Given the description of an element on the screen output the (x, y) to click on. 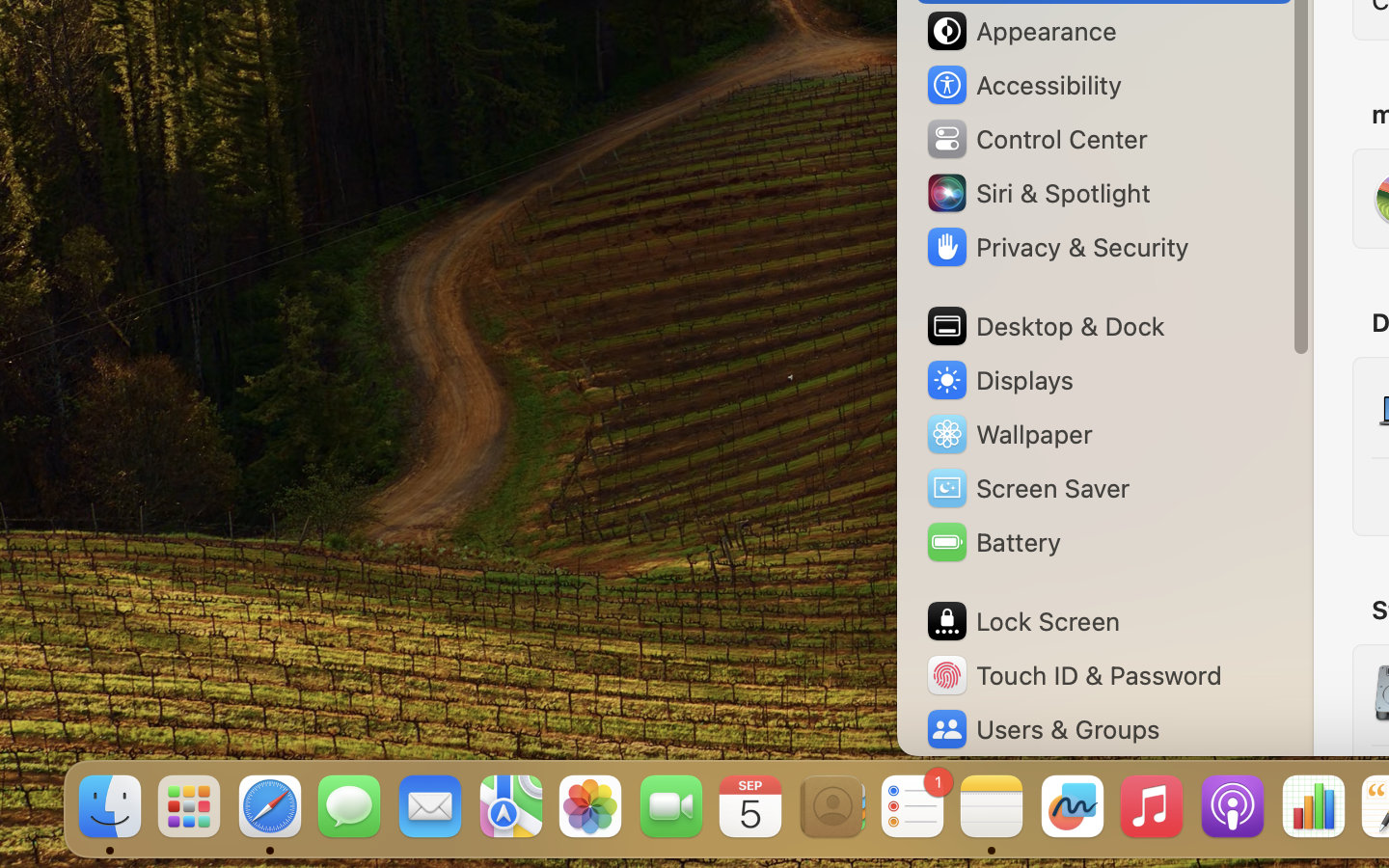
Wallpaper Element type: AXStaticText (1007, 433)
Siri & Spotlight Element type: AXStaticText (1036, 192)
Users & Groups Element type: AXStaticText (1041, 728)
